Given the description of an element on the screen output the (x, y) to click on. 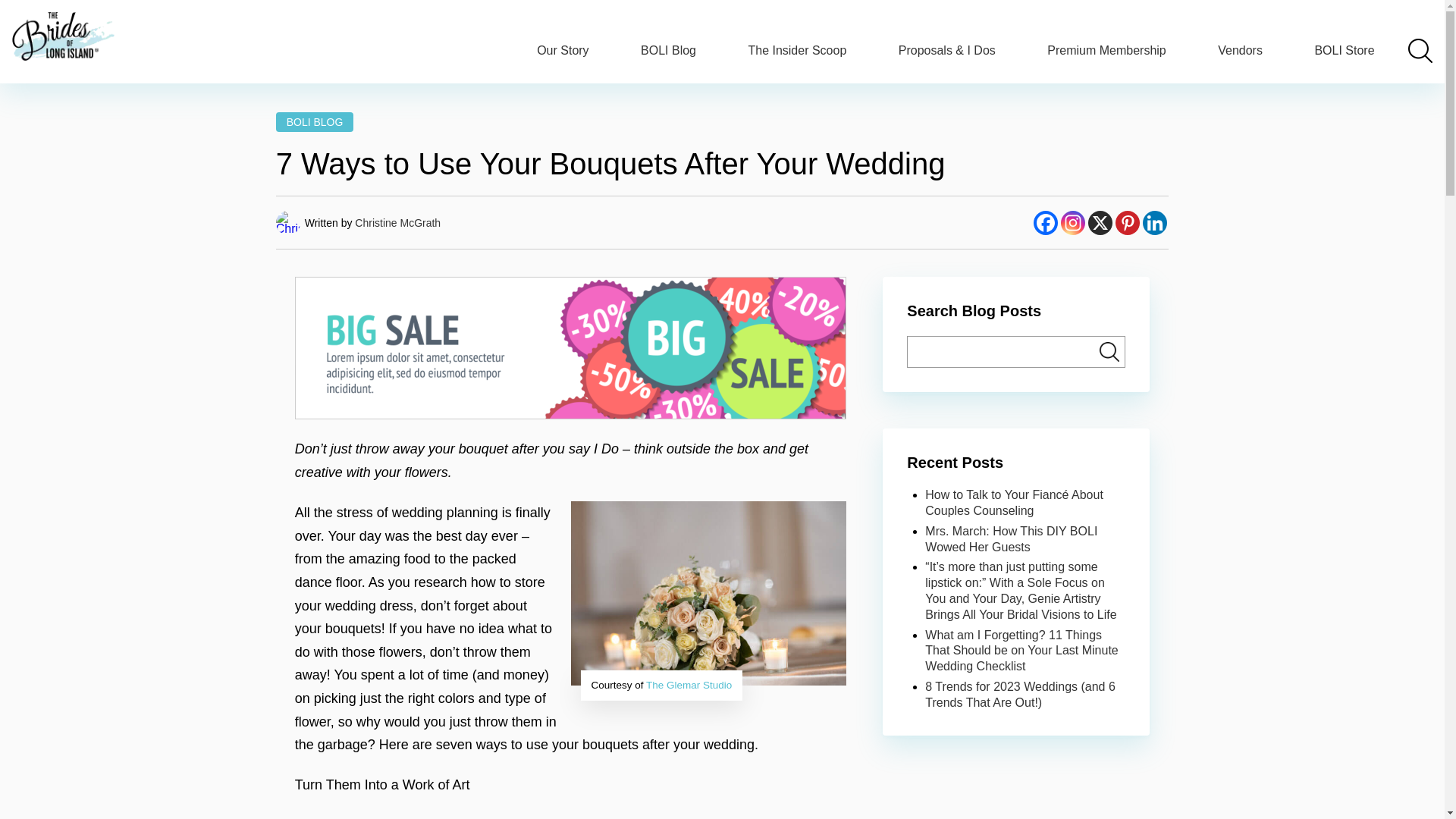
Facebook (1045, 222)
BOLI BLOG (314, 121)
Christine McGrath (398, 223)
Instagram (1072, 222)
Vendors (562, 50)
X (1240, 50)
Search (1099, 222)
Search (1109, 351)
